Given the description of an element on the screen output the (x, y) to click on. 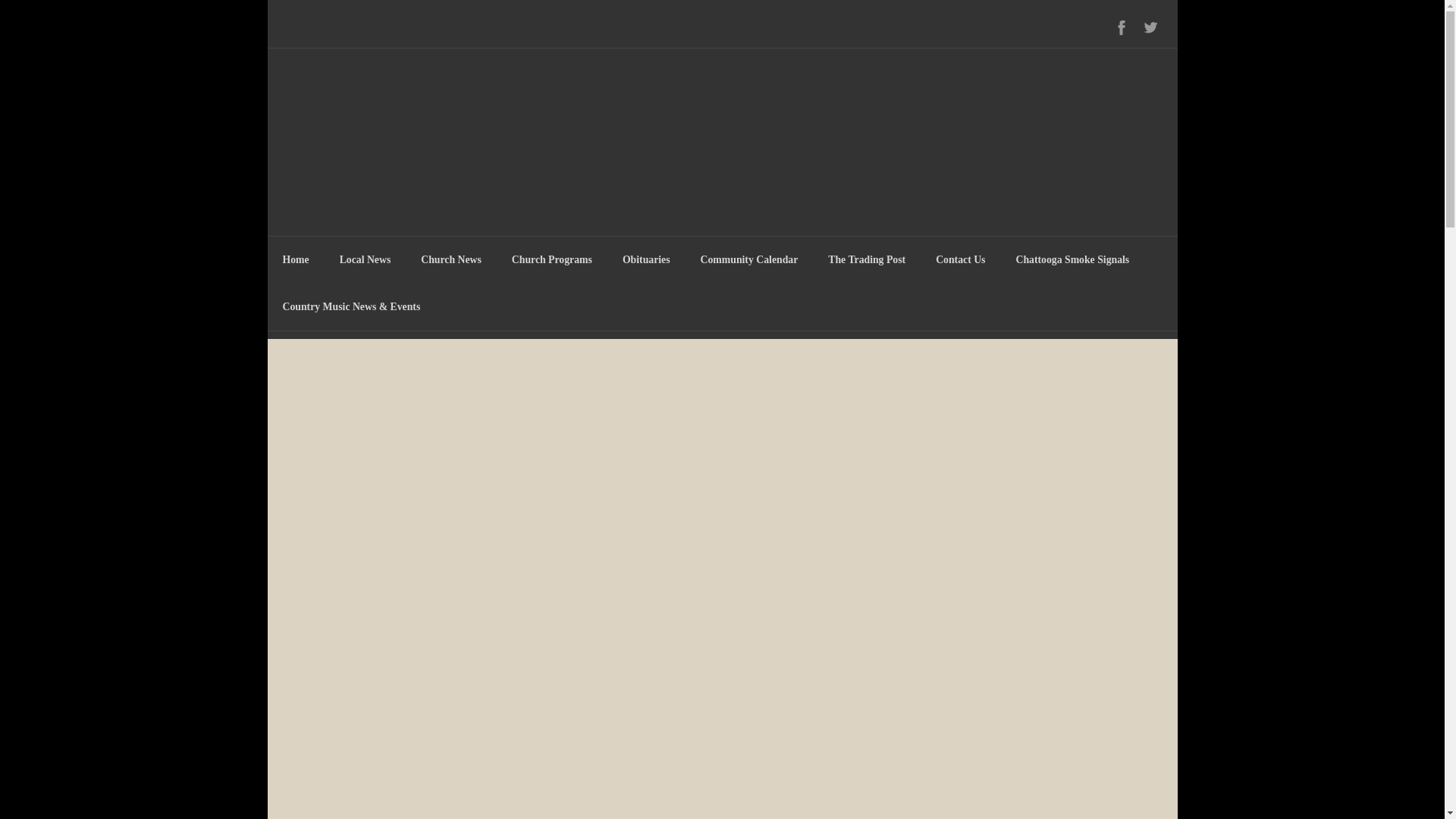
Church Programs (551, 259)
Church News (451, 259)
The Trading Post (866, 259)
Community Calendar (749, 259)
Twitter (1149, 27)
Home (294, 259)
Obituaries (646, 259)
Contact Us (960, 259)
Chattooga Smoke Signals (1072, 259)
Local News (365, 259)
Facebook (1121, 27)
